Given the description of an element on the screen output the (x, y) to click on. 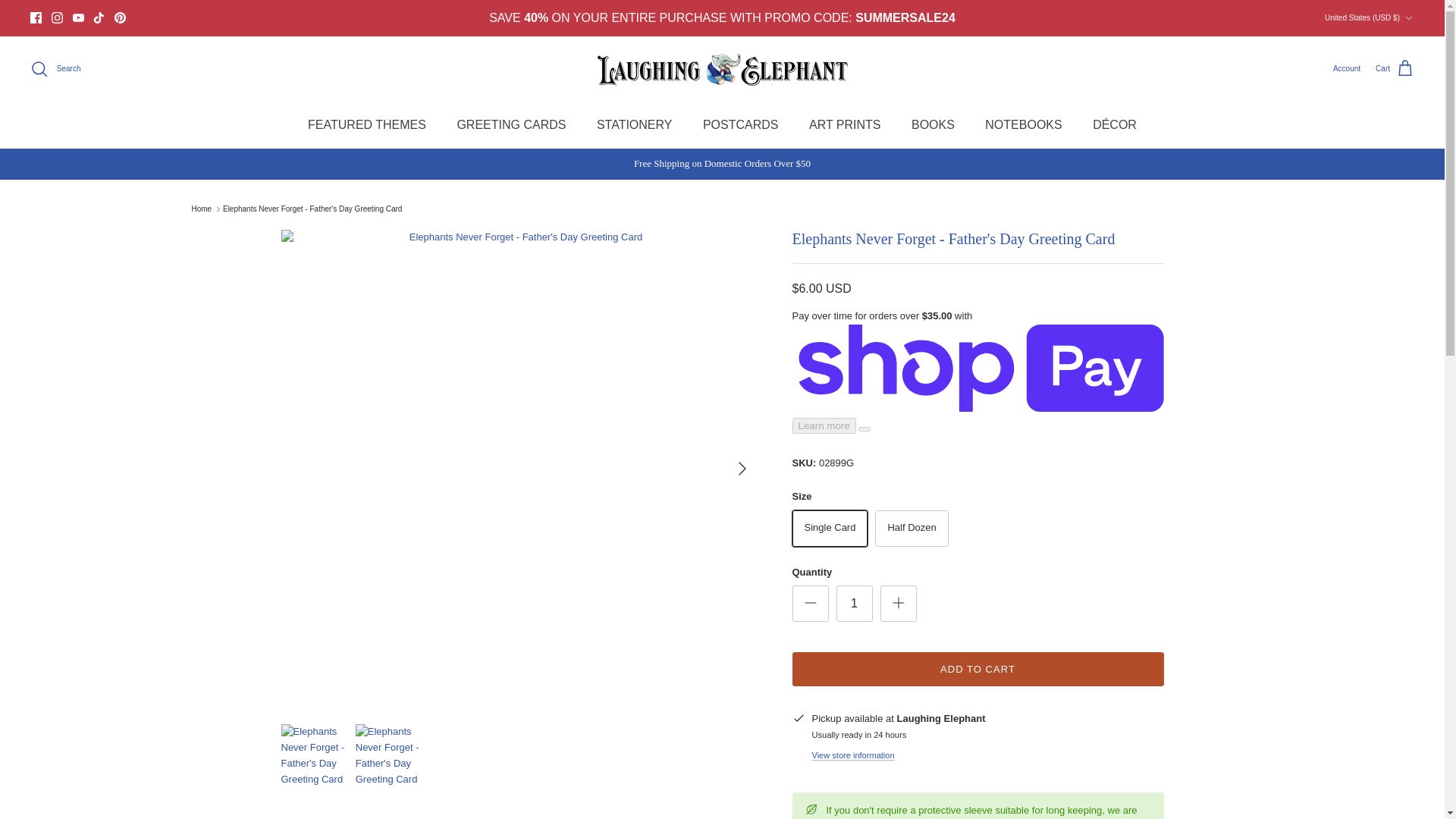
RIGHT (741, 468)
Youtube (78, 17)
Facebook (36, 17)
Facebook (36, 17)
Minus (809, 602)
Laughing Elephant (721, 68)
Youtube (78, 17)
1 (853, 603)
Plus (897, 602)
Pinterest (120, 17)
